Given the description of an element on the screen output the (x, y) to click on. 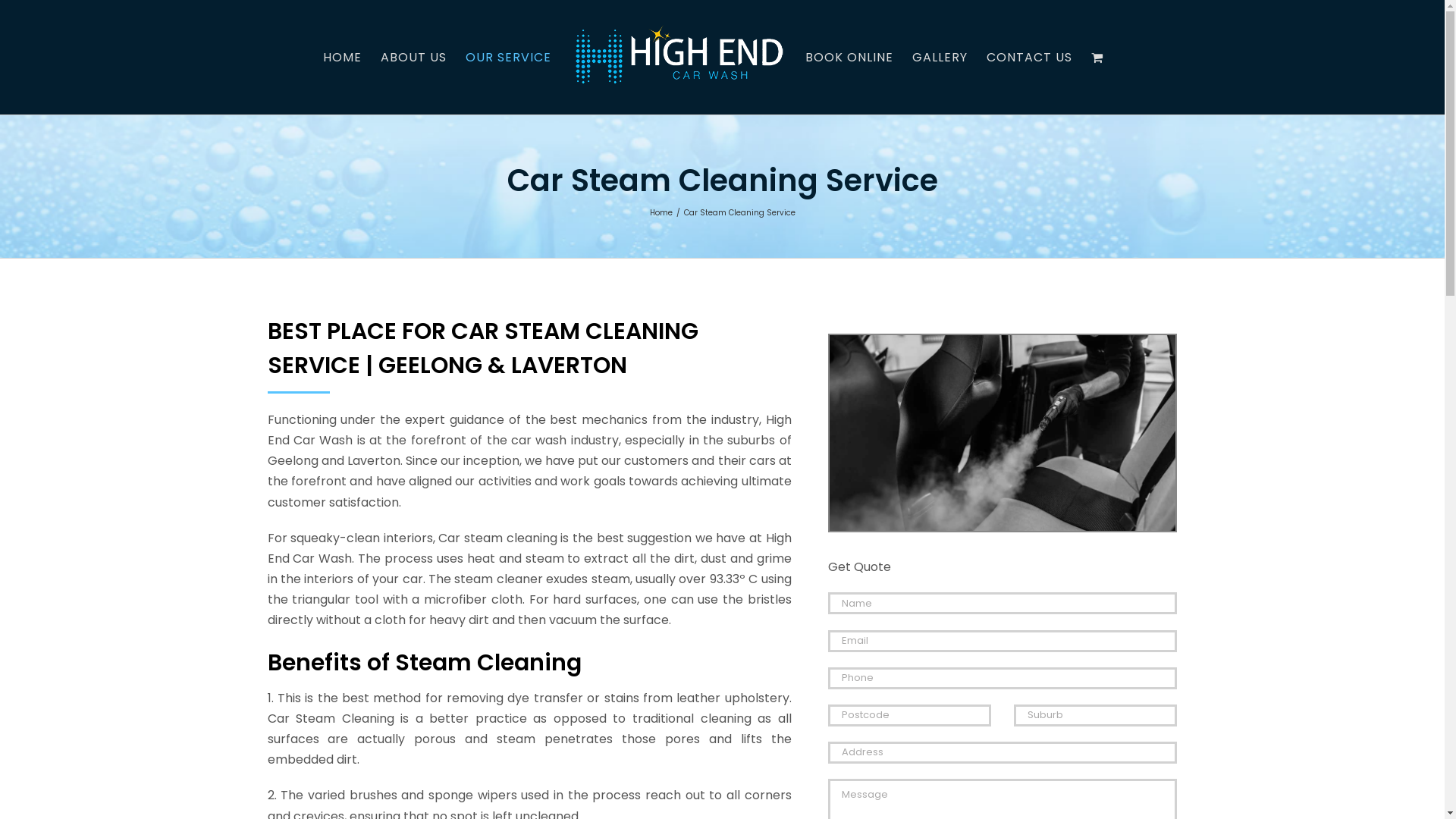
OUR SERVICE Element type: text (508, 57)
Home Element type: text (660, 211)
CONTACT US Element type: text (1028, 57)
HOME Element type: text (342, 57)
BOOK ONLINE Element type: text (849, 57)
ABOUT US Element type: text (413, 57)
Car steam cleaning Element type: hover (1002, 432)
GALLERY Element type: text (938, 57)
